Given the description of an element on the screen output the (x, y) to click on. 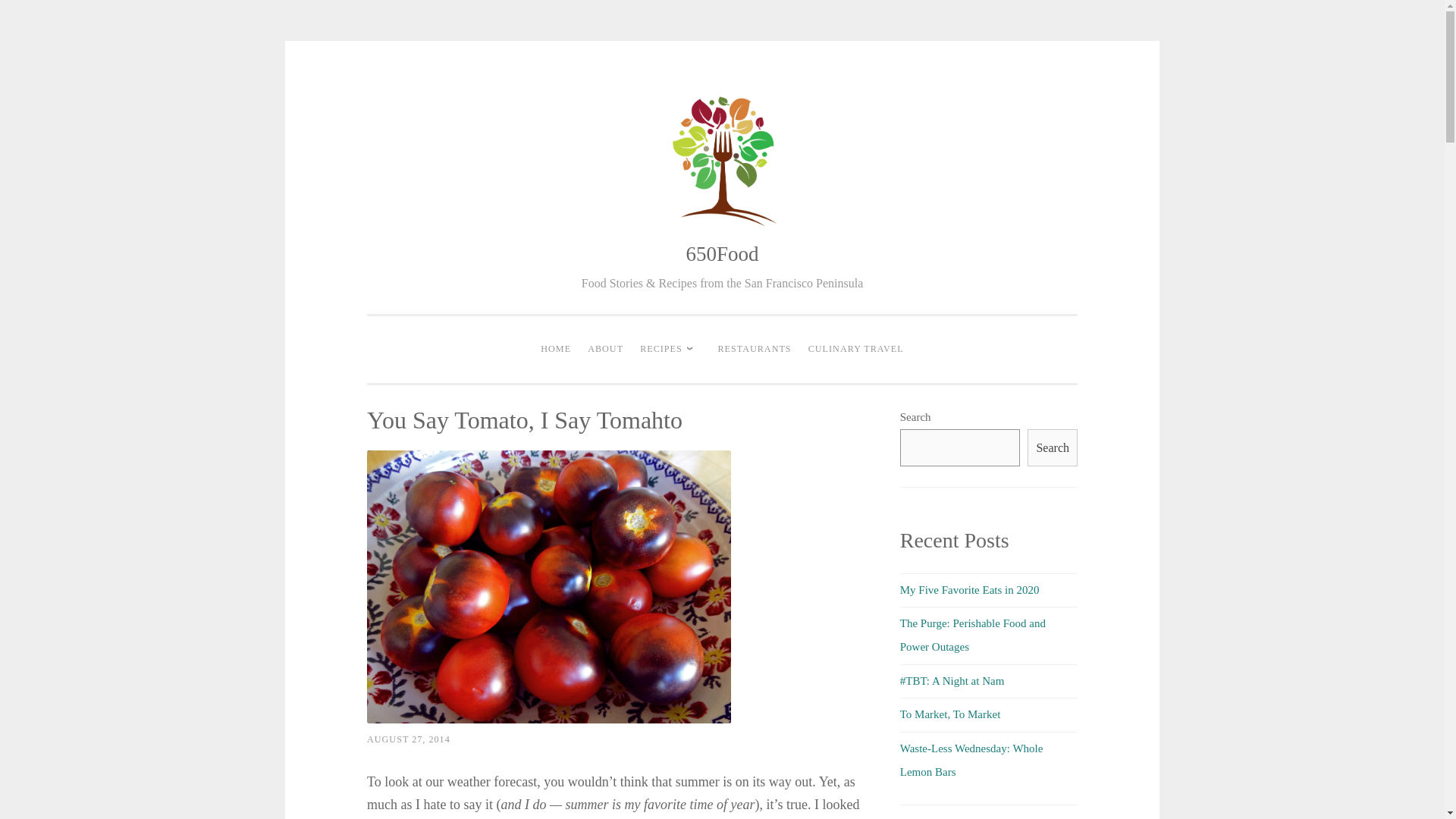
RECIPES (670, 349)
HOME (556, 349)
Waste-Less Wednesday: Whole Lemon Bars (971, 759)
You Say Tomato, I Say Tomahto (548, 586)
Search (1052, 447)
CULINARY TRAVEL (856, 349)
650Food (721, 253)
ABOUT (605, 349)
RESTAURANTS (753, 349)
The Purge: Perishable Food and Power Outages (972, 634)
To Market, To Market (950, 714)
AUGUST 27, 2014 (407, 738)
My Five Favorite Eats in 2020 (969, 589)
